Given the description of an element on the screen output the (x, y) to click on. 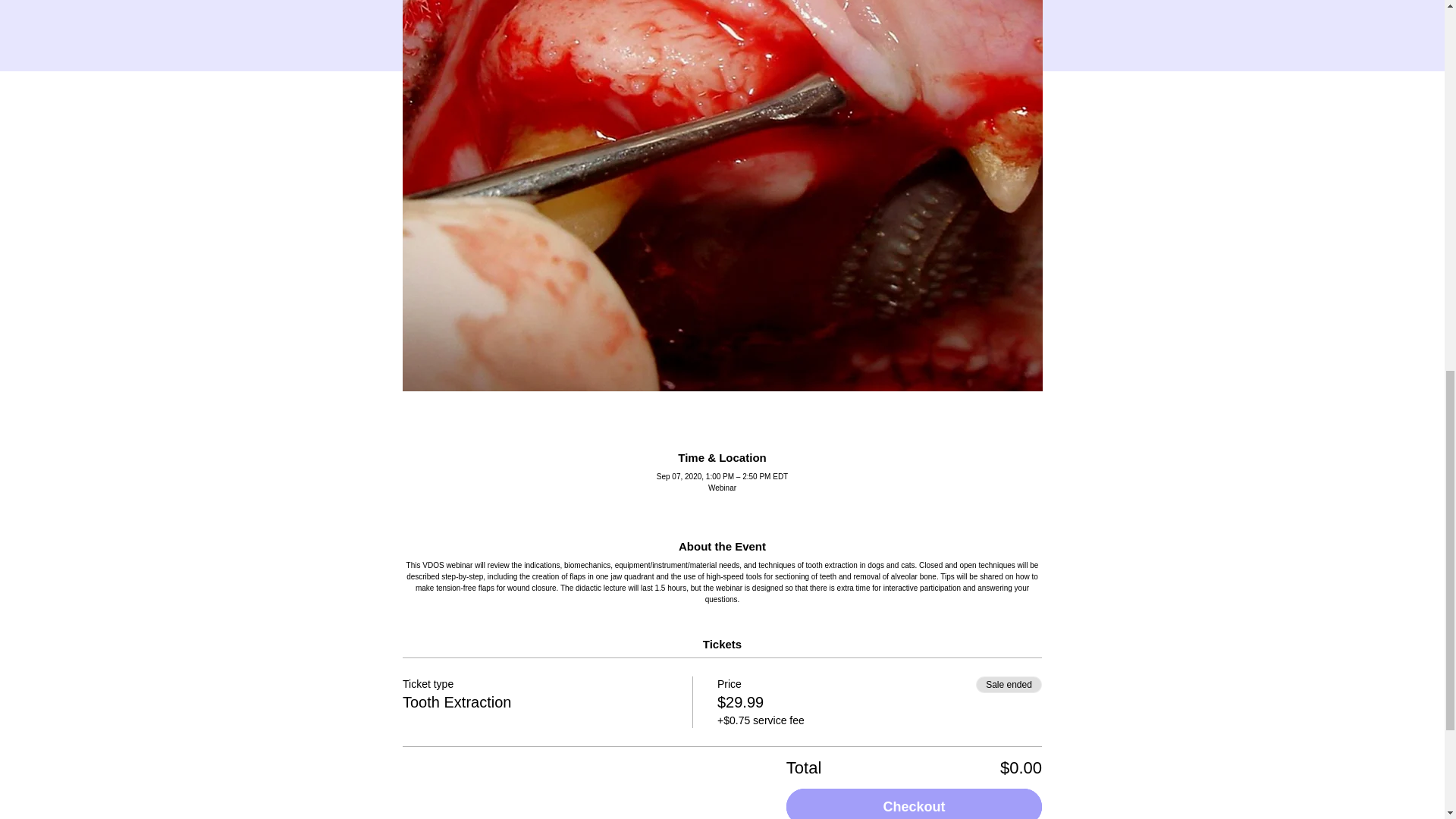
Checkout (914, 803)
